Given the description of an element on the screen output the (x, y) to click on. 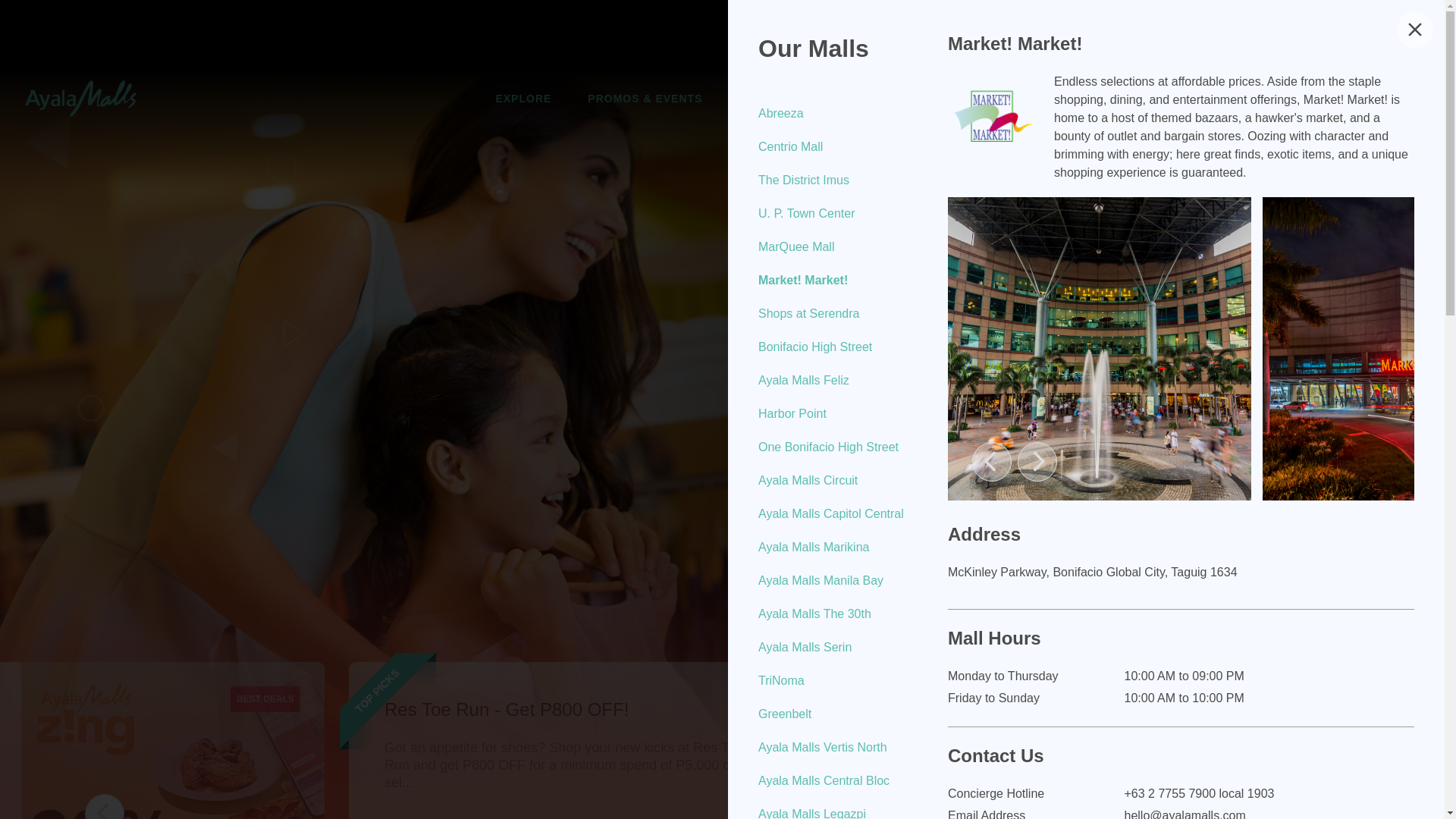
REWARDS (859, 97)
MORE (943, 97)
CINEMAS (765, 97)
EXPLORE (523, 97)
Advertisement (727, 33)
SIGN-UP NOW! (1338, 98)
